Given the description of an element on the screen output the (x, y) to click on. 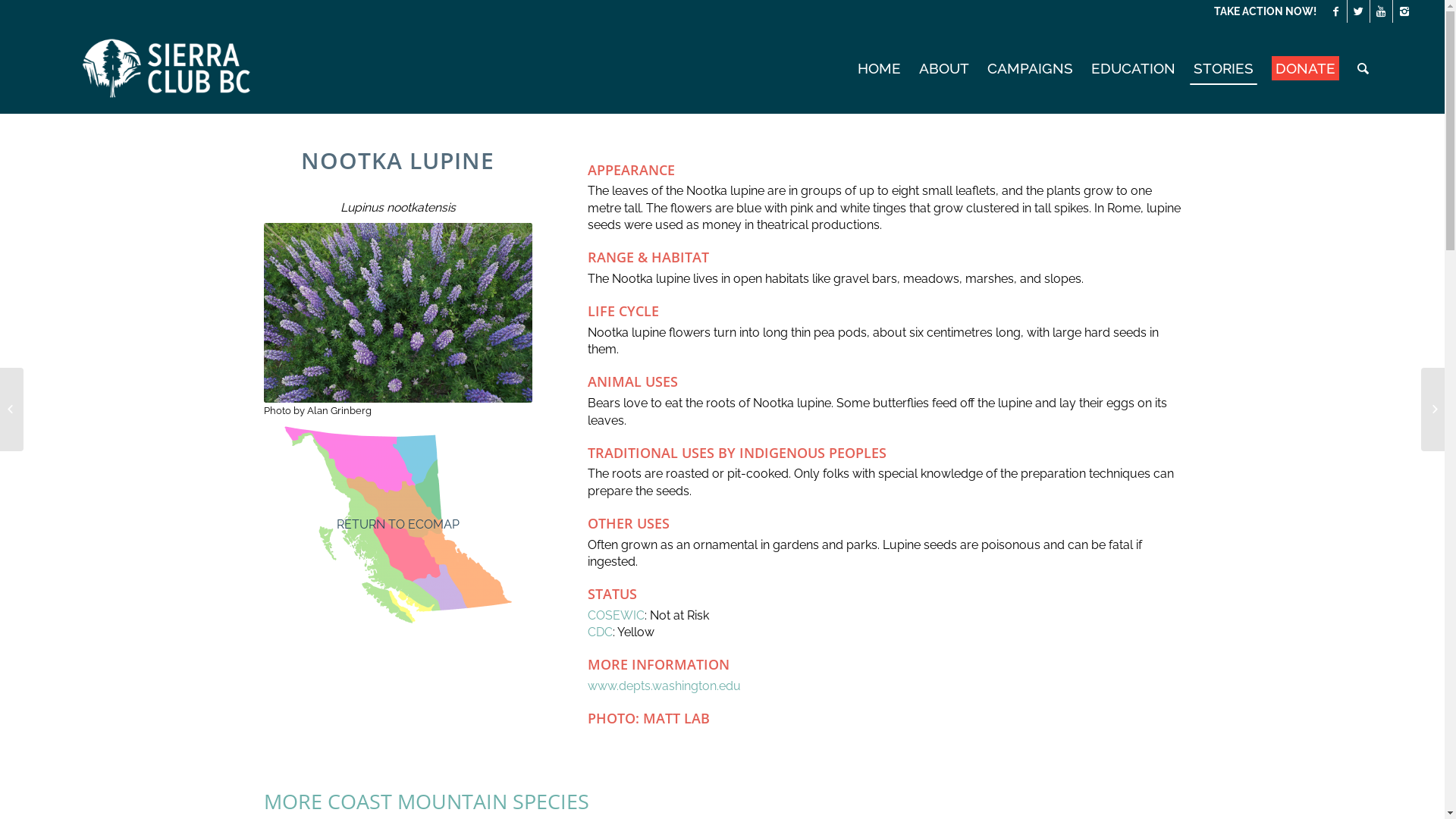
Nootka lupine. Photo by Alan Grinberg Element type: hover (398, 312)
Youtube Element type: hover (1381, 11)
RETURN TO ECOMAP Element type: text (397, 524)
Facebook Element type: hover (1335, 11)
Instagram Element type: hover (1404, 11)
www.depts.washington.edu Element type: text (663, 685)
CDC Element type: text (599, 631)
eco-map-bg Element type: hover (397, 524)
COSEWIC Element type: text (615, 615)
CAMPAIGNS Element type: text (1029, 67)
ABOUT Element type: text (943, 67)
STORIES Element type: text (1223, 67)
HOME Element type: text (878, 67)
EDUCATION Element type: text (1133, 67)
DONATE Element type: text (1305, 67)
TAKE ACTION NOW! Element type: text (1265, 11)
Twitter Element type: hover (1358, 11)
